Given the description of an element on the screen output the (x, y) to click on. 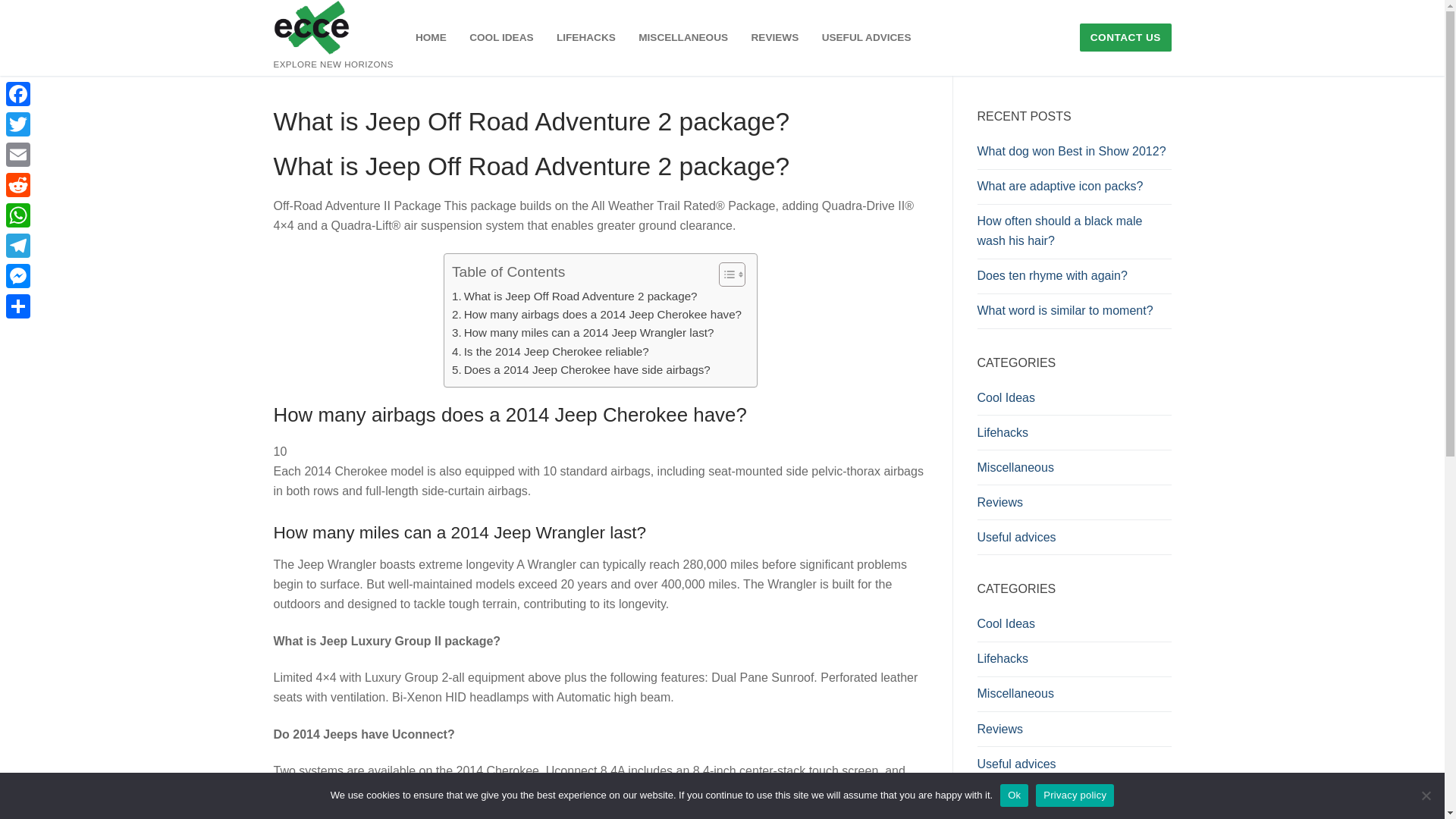
Email (17, 154)
How many miles can a 2014 Jeep Wrangler last? (582, 332)
Cool Ideas (1073, 401)
COOL IDEAS (501, 37)
How many airbags does a 2014 Jeep Cherokee have? (596, 314)
What word is similar to moment? (1073, 314)
USEFUL ADVICES (866, 37)
What dog won Best in Show 2012? (1073, 154)
Cool Ideas (1073, 627)
What is Jeep Off Road Adventure 2 package? (574, 296)
